Given the description of an element on the screen output the (x, y) to click on. 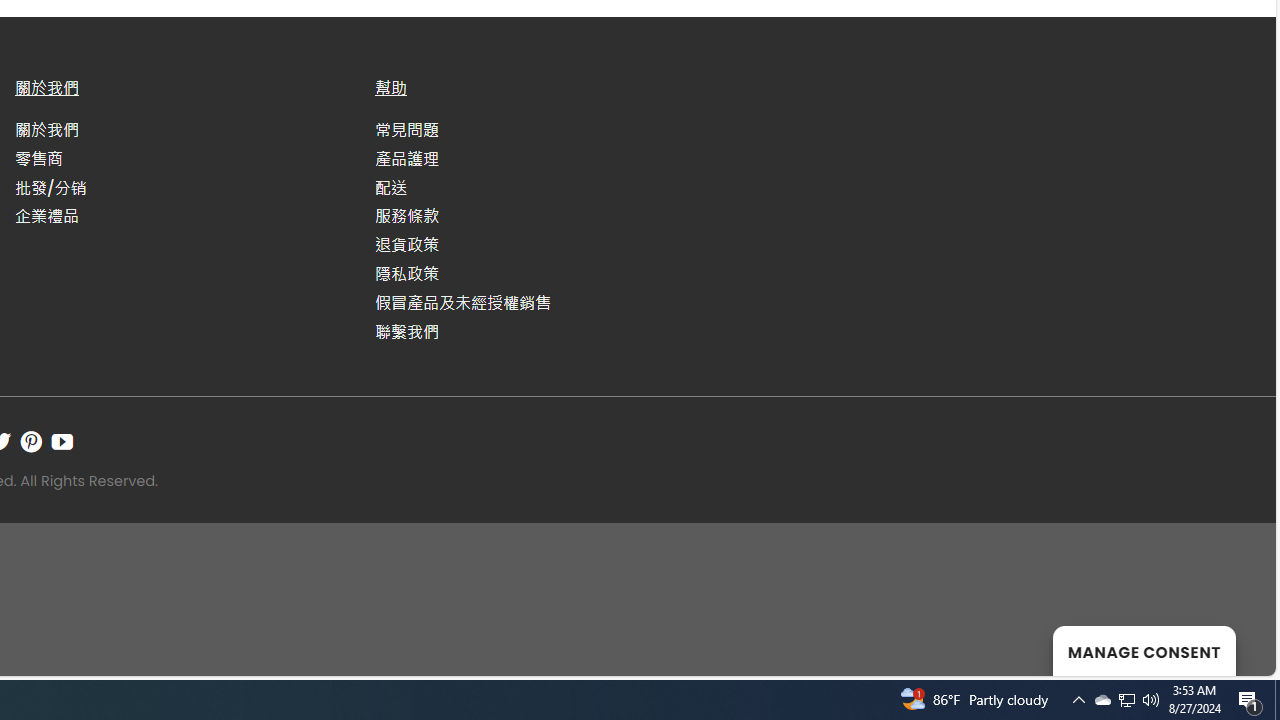
Follow on YouTube (61, 441)
